Given the description of an element on the screen output the (x, y) to click on. 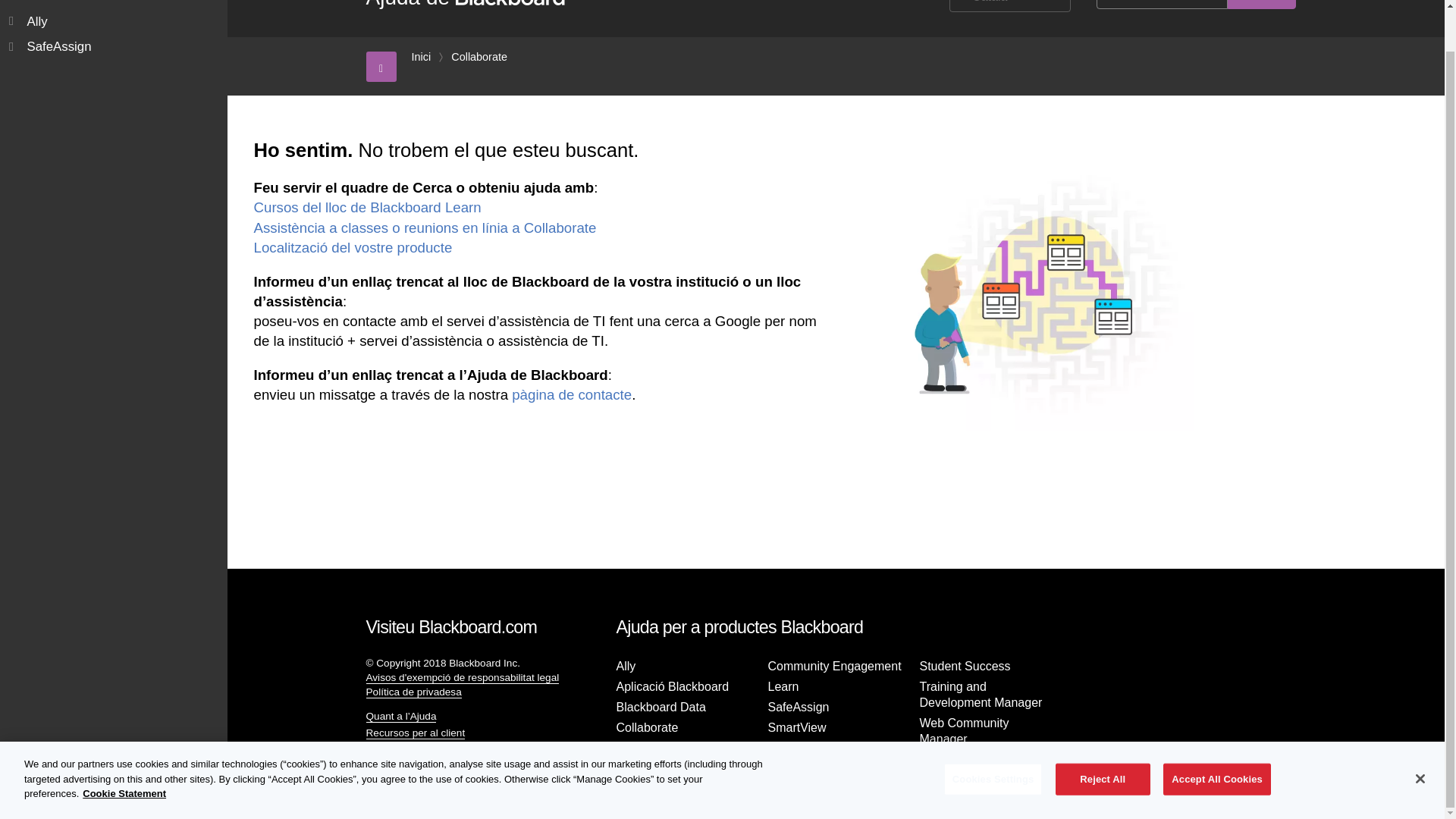
Cerca (1261, 4)
Training and Development Manager (980, 695)
Cerca (1261, 4)
SafeAssign (797, 707)
Ajuda de Blackboard (466, 4)
Inici (420, 56)
Learn (782, 686)
Visiteu Blackboard.com (451, 627)
Entra (377, 770)
Collaborate (478, 56)
